Given the description of an element on the screen output the (x, y) to click on. 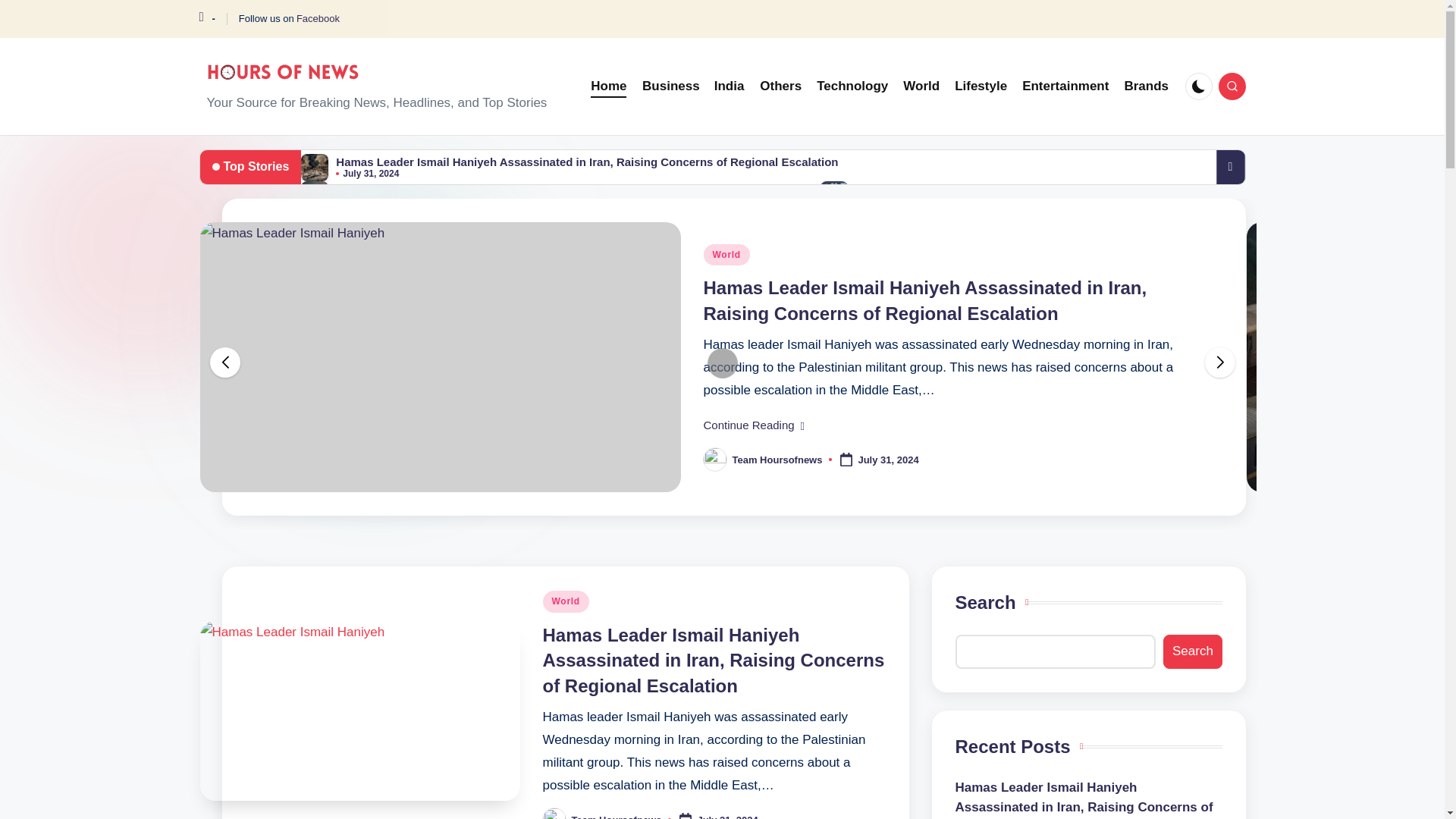
Brands (1146, 86)
Home (608, 86)
World (920, 86)
Entertainment (1065, 86)
Technology (852, 86)
View all posts by Team Hoursofnews (777, 460)
Others (781, 86)
Lifestyle (981, 86)
Facebook (318, 18)
10 Essential Skills to Boost Your Career in 2024 (984, 188)
India (729, 86)
Business (671, 86)
View all posts by Team Hoursofnews (617, 816)
